Given the description of an element on the screen output the (x, y) to click on. 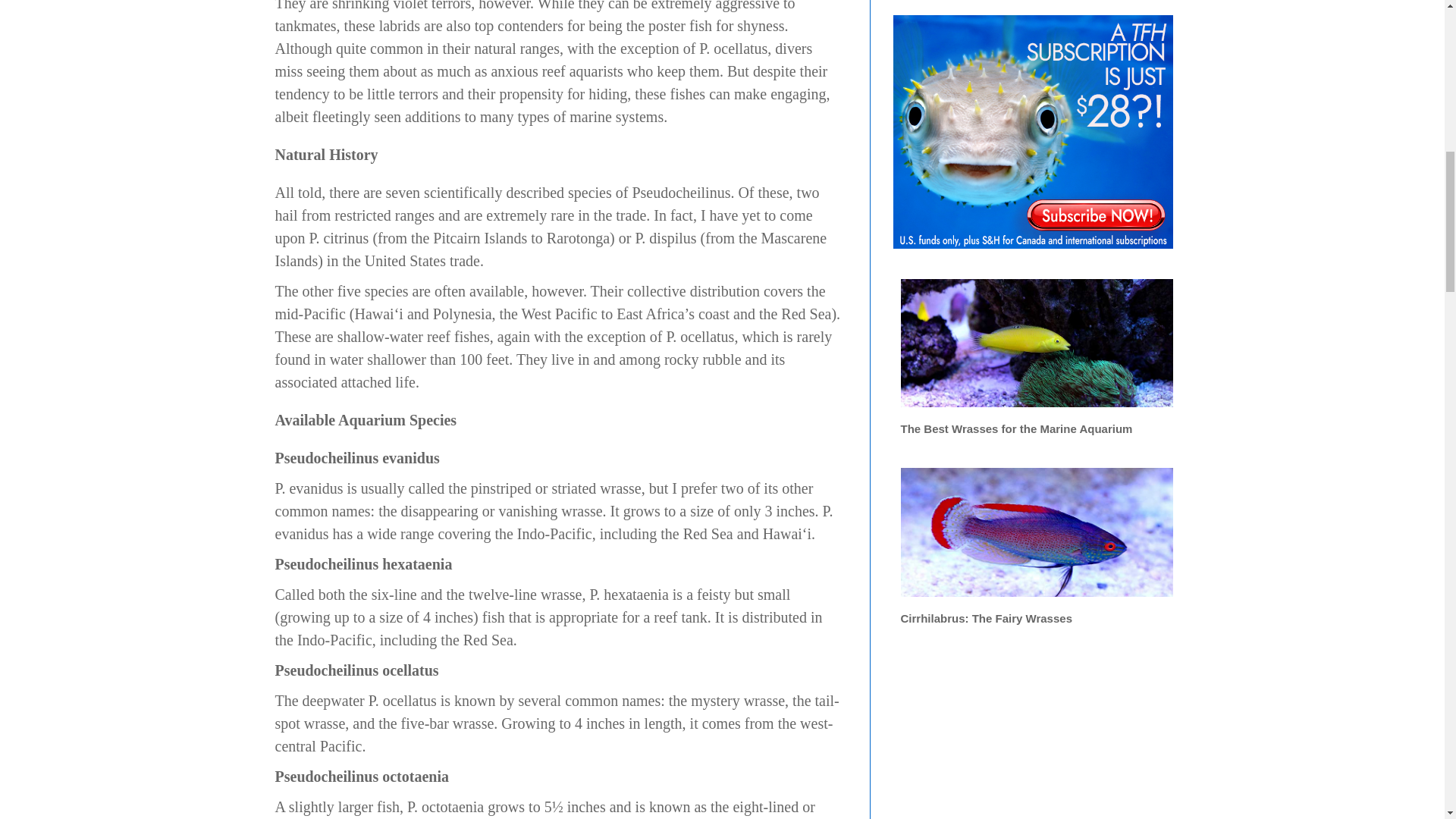
Cirrhilabrus: The Fairy Wrasses (1037, 26)
